Given the description of an element on the screen output the (x, y) to click on. 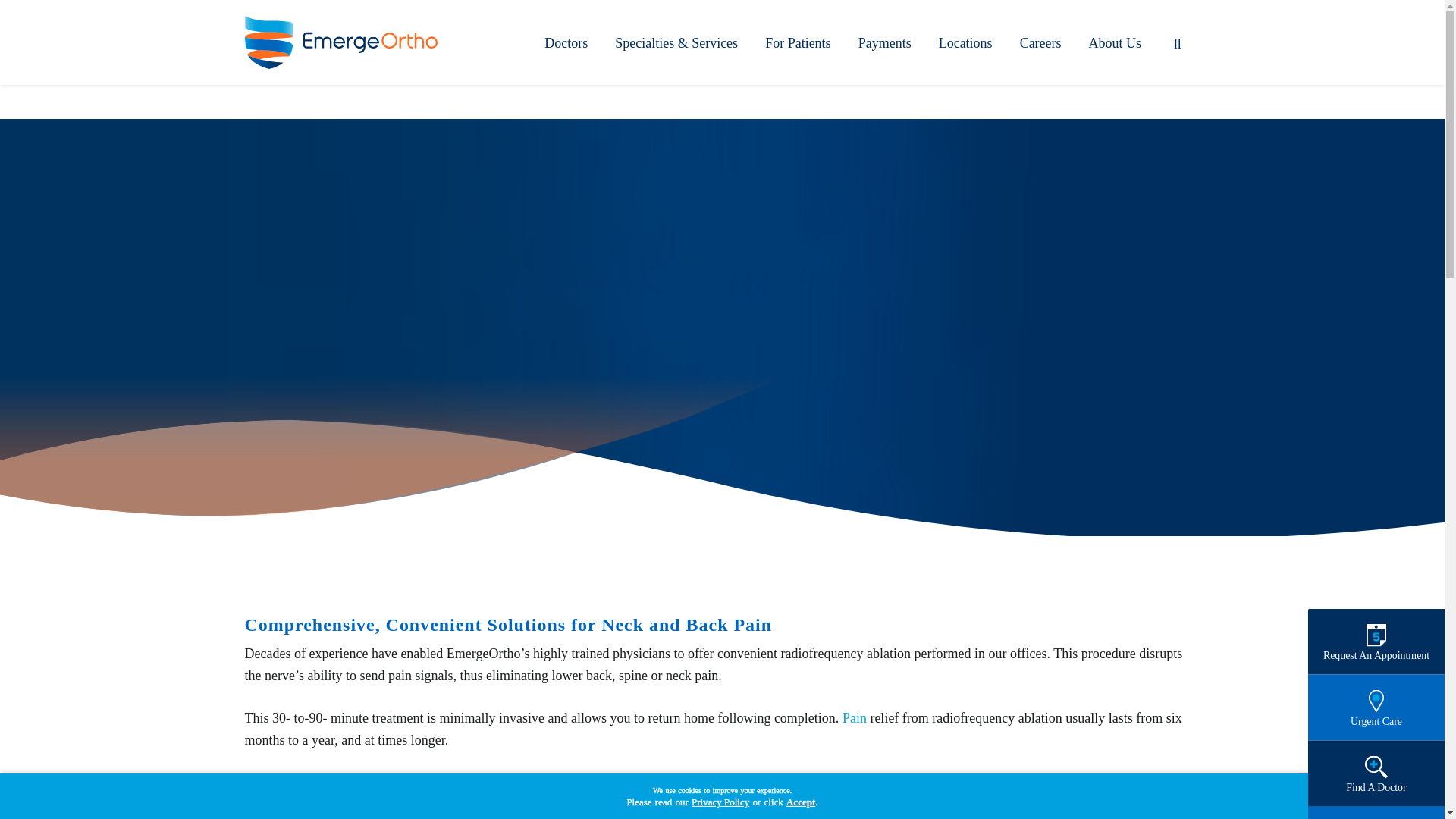
Accept (800, 802)
Privacy Policy (720, 802)
Payments (884, 42)
